Given the description of an element on the screen output the (x, y) to click on. 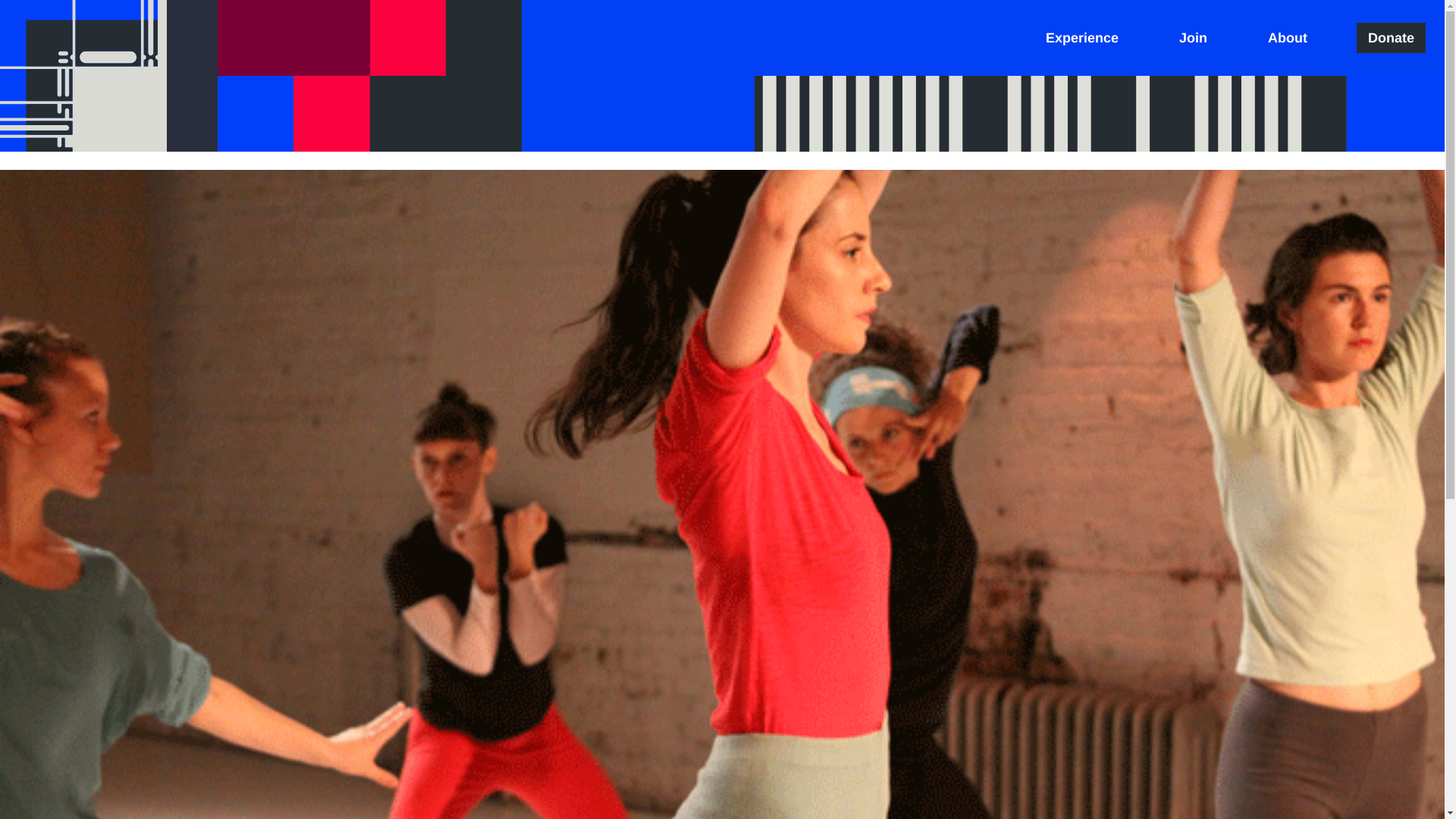
Experience (1081, 37)
Fusebox (83, 75)
Join (1192, 37)
Donate (1390, 37)
About (1287, 37)
Fusebox (83, 75)
